Given the description of an element on the screen output the (x, y) to click on. 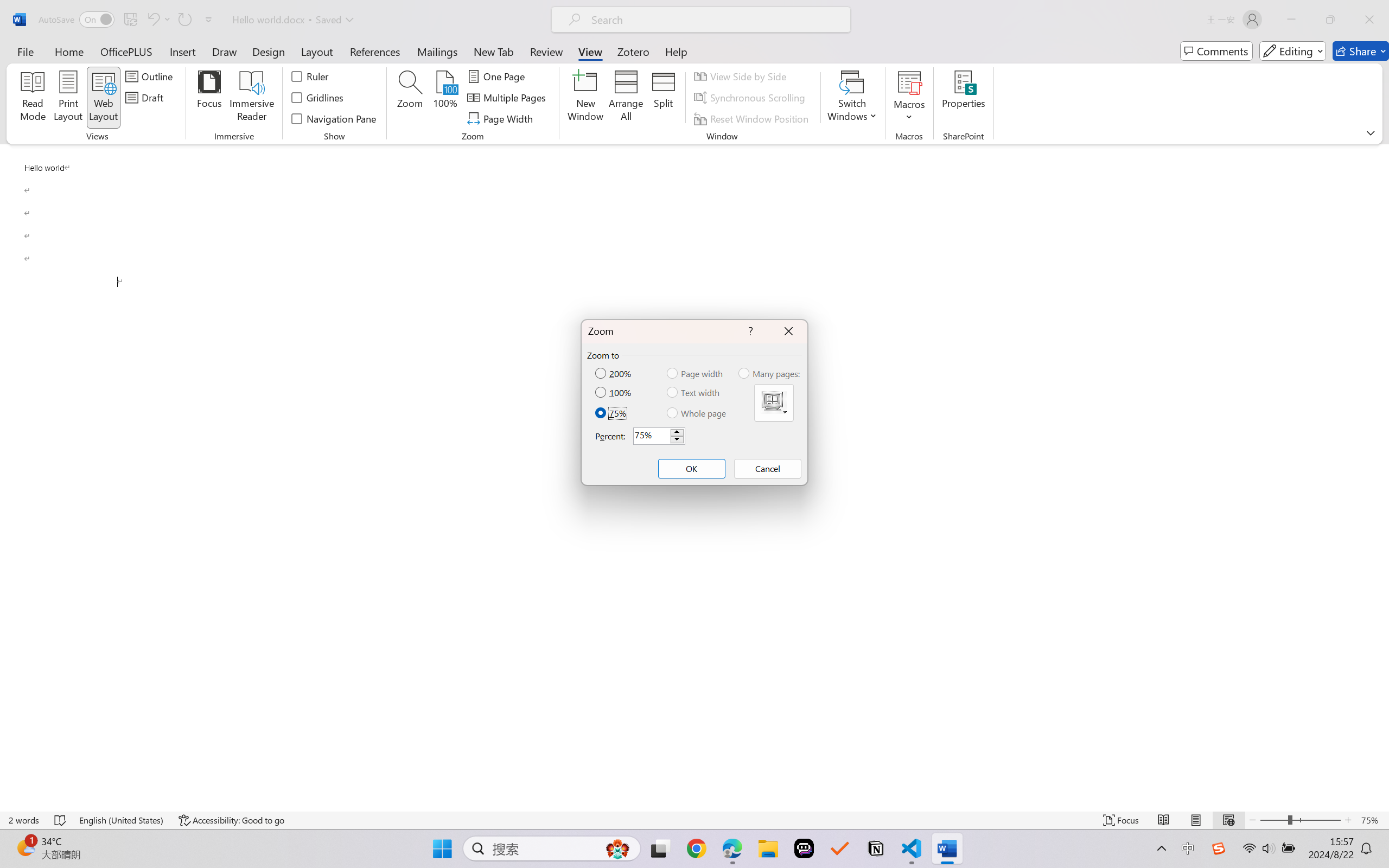
View Macros (909, 81)
Draft (146, 97)
Class: NetUIScrollBar (1382, 477)
Zoom 75% (1372, 819)
Comments (1216, 50)
Page Width (501, 118)
One Page (497, 75)
Design (268, 51)
OfficePLUS (126, 51)
Can't Repeat (184, 19)
Zoom Out (1273, 819)
